Given the description of an element on the screen output the (x, y) to click on. 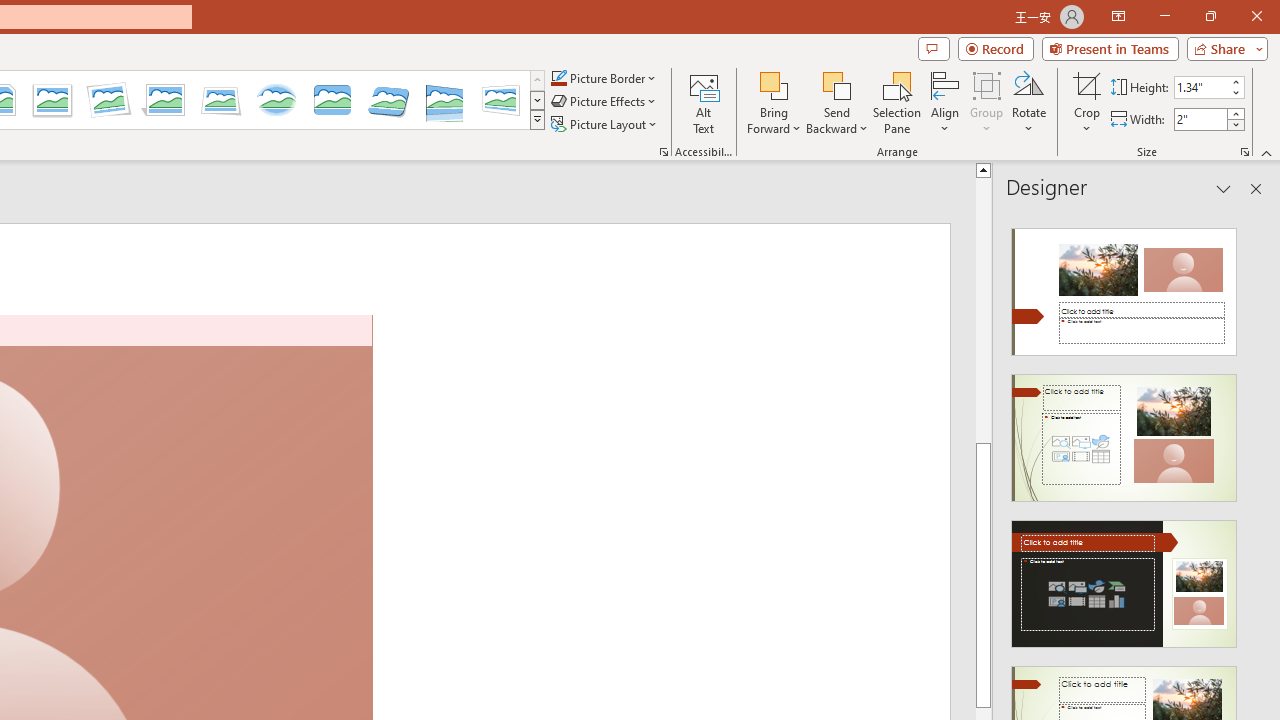
Bevel Perspective (388, 100)
Alt Text (703, 102)
Shape Height (1201, 87)
Soft Edge Oval (276, 100)
